Given the description of an element on the screen output the (x, y) to click on. 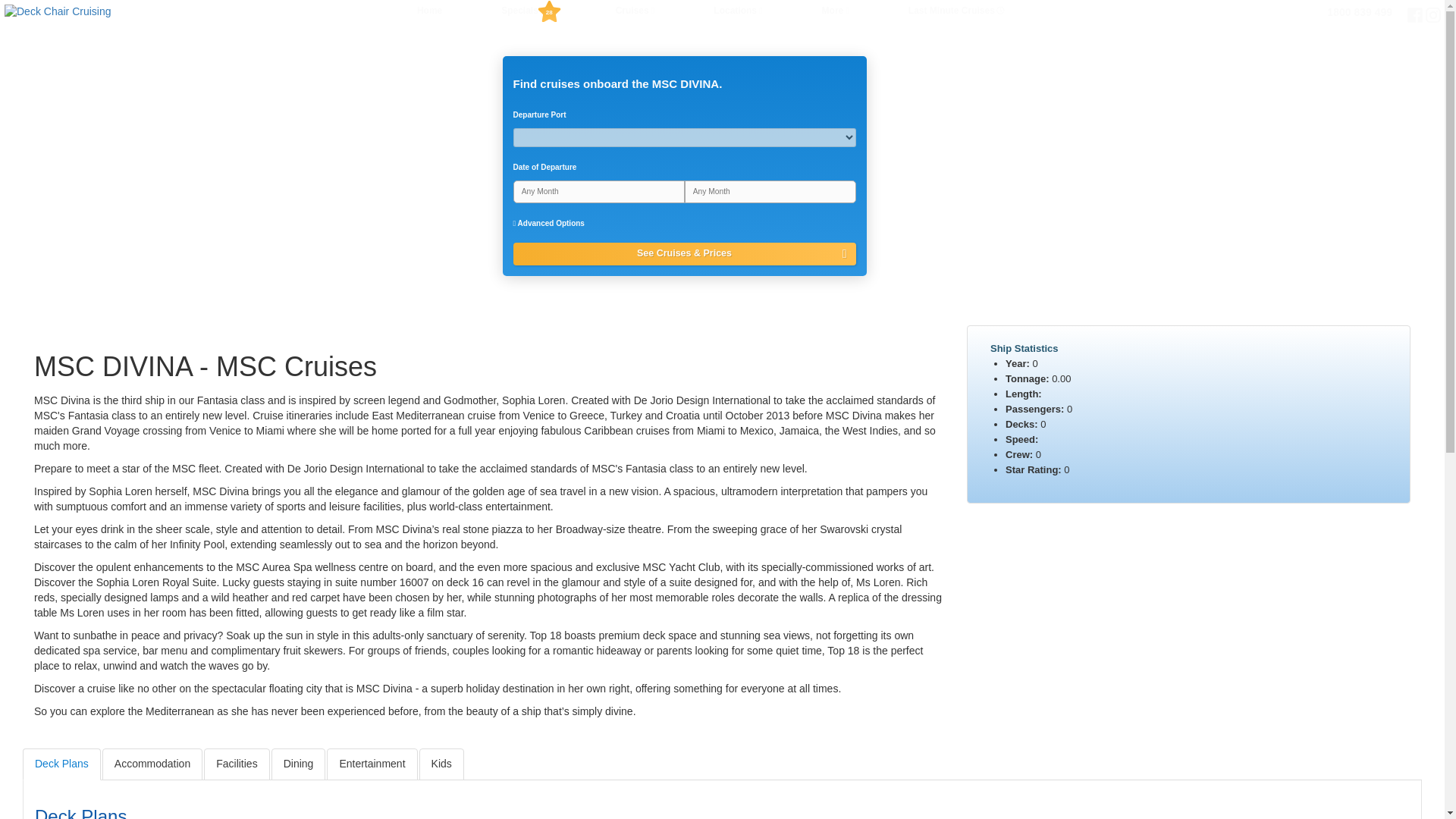
Home (429, 9)
Deck Chair Cruising - Home (57, 10)
